Given the description of an element on the screen output the (x, y) to click on. 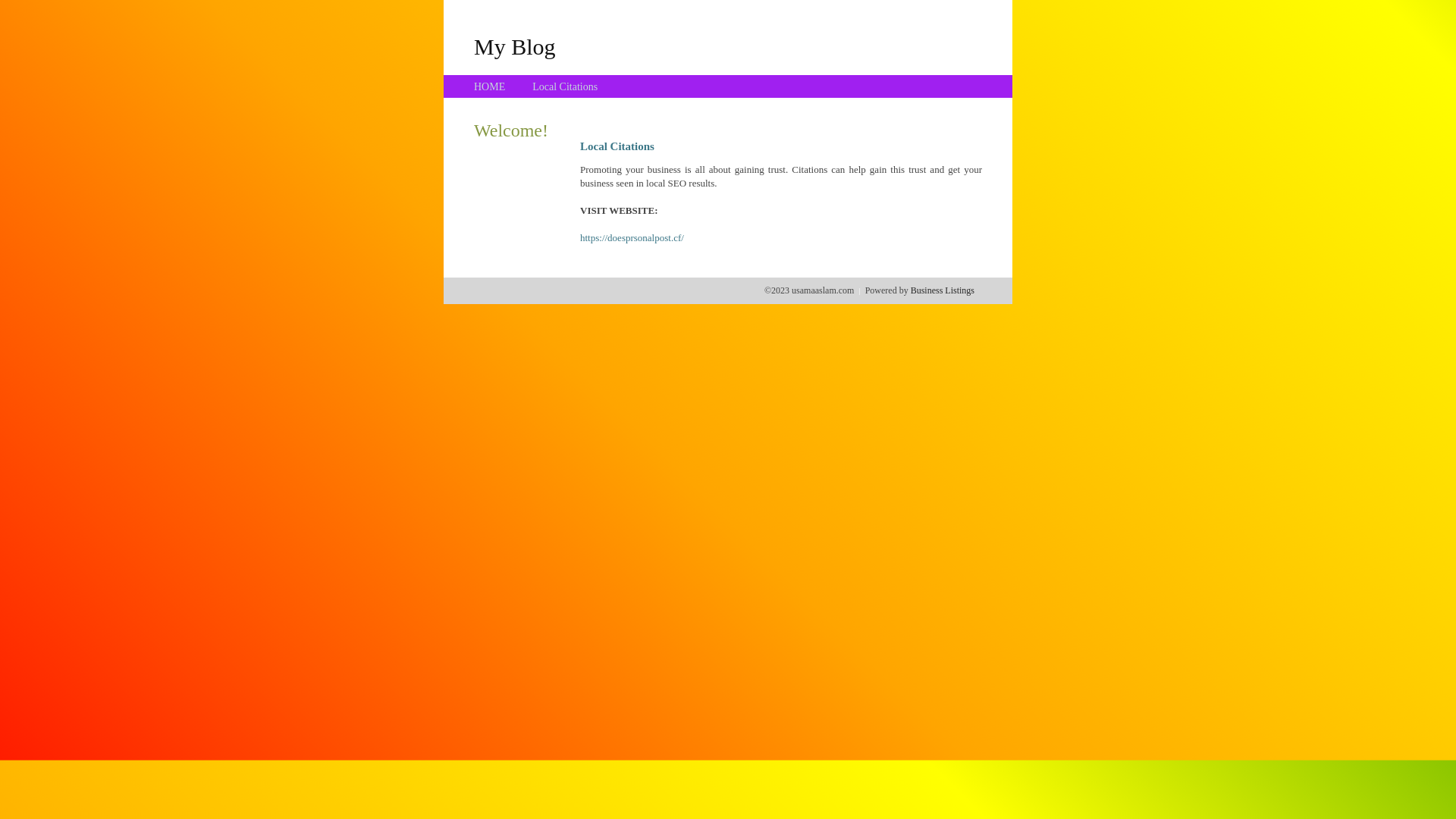
Local Citations Element type: text (564, 86)
Business Listings Element type: text (942, 290)
My Blog Element type: text (514, 46)
HOME Element type: text (489, 86)
https://doesprsonalpost.cf/ Element type: text (632, 237)
